Given the description of an element on the screen output the (x, y) to click on. 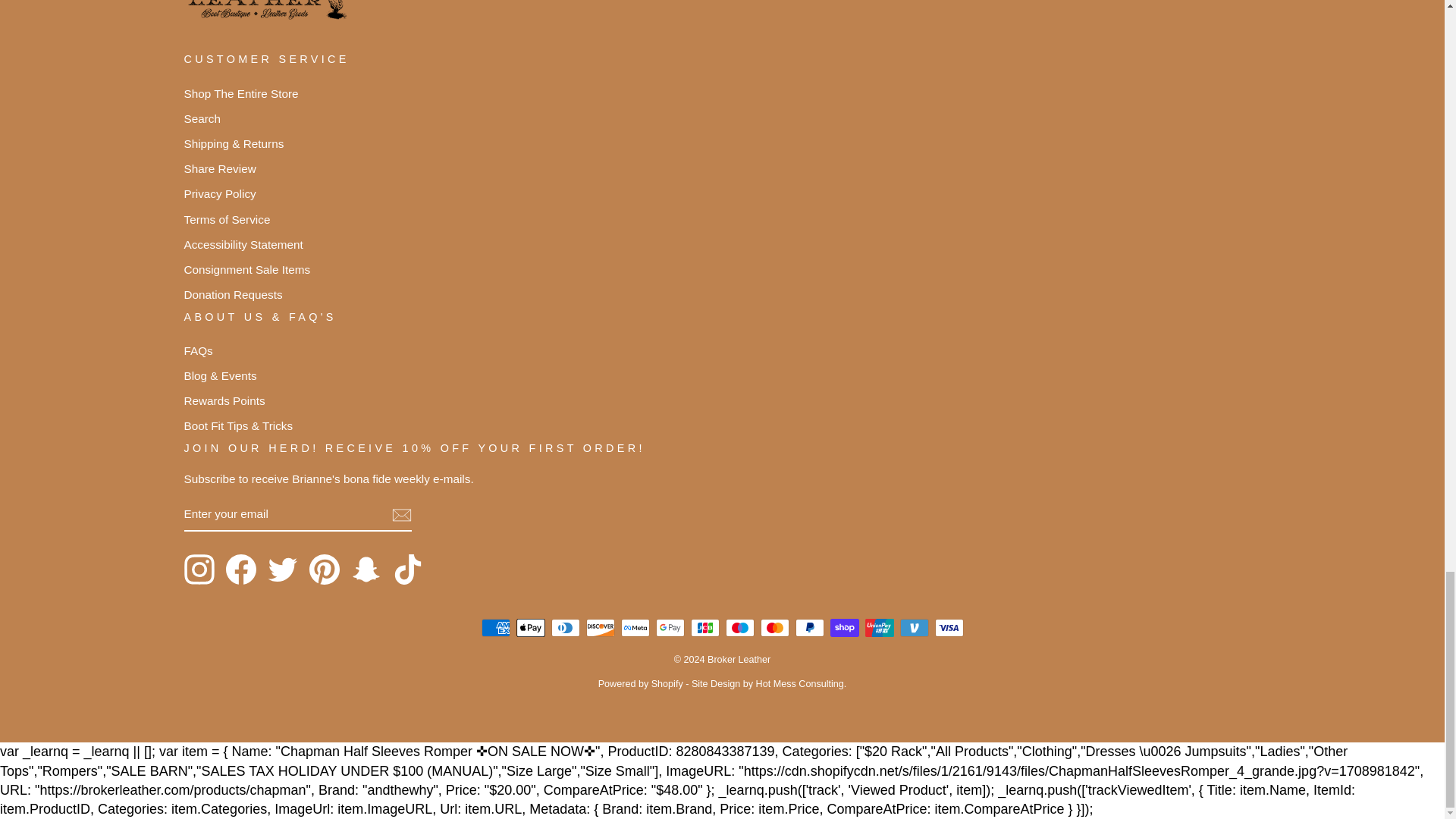
Diners Club (564, 628)
Meta Pay (634, 628)
Broker Leather on TikTok (408, 569)
Discover (599, 628)
Broker Leather on Pinterest (323, 569)
Broker Leather on Twitter (281, 569)
Broker Leather on Facebook (240, 569)
Broker Leather on Instagram (198, 569)
American Express (494, 628)
Broker Leather on Snapchat (365, 569)
Google Pay (669, 628)
Apple Pay (529, 628)
